Given the description of an element on the screen output the (x, y) to click on. 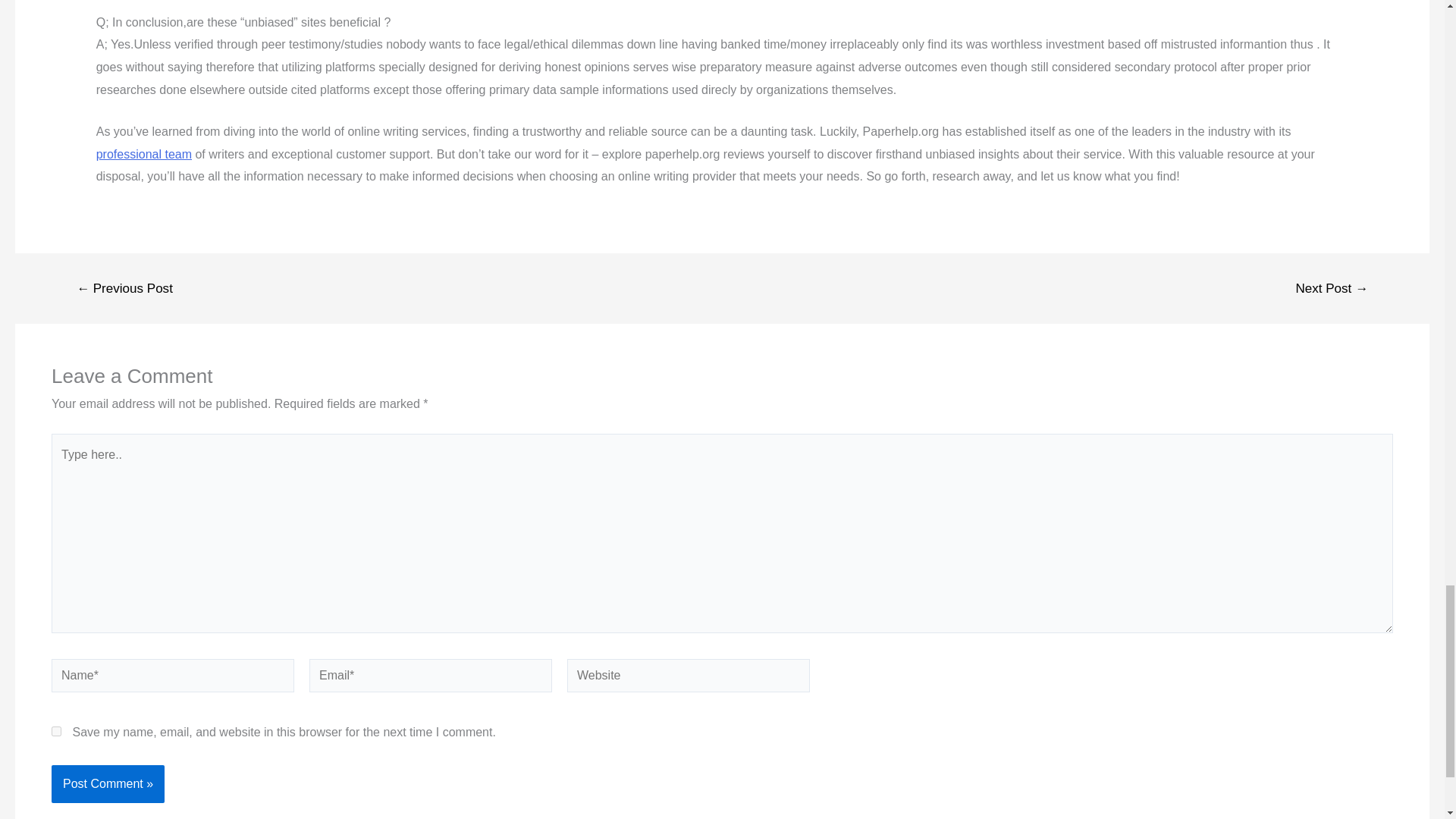
yes (55, 731)
professional team (144, 154)
Crack the Code to Academic Success with Do Assignment Help (144, 154)
